Given the description of an element on the screen output the (x, y) to click on. 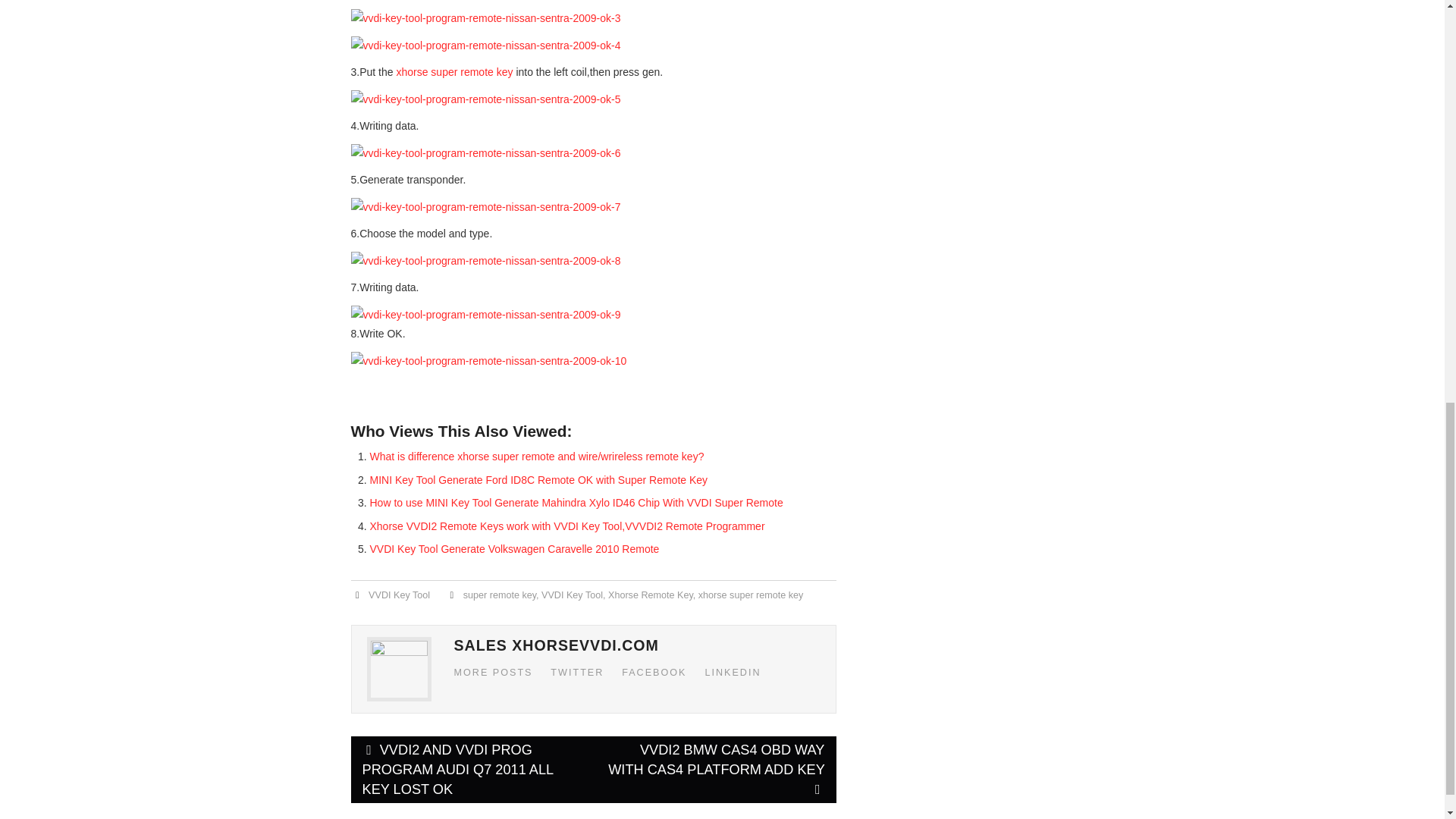
vvdi-key-tool-program-remote-nissan-sentra-2009-ok-8  (485, 261)
vvdi-key-tool-program-remote-nissan-sentra-2009-ok-3  (485, 18)
vvdi-key-tool-program-remote-nissan-sentra-2009-ok-4  (485, 45)
vvdi-key-tool-program-remote-nissan-sentra-2009-ok-7  (485, 207)
vvdi-key-tool-program-remote-nissan-sentra-2009-ok-5  (485, 99)
vvdi-key-tool-program-remote-nissan-sentra-2009-ok-9  (485, 314)
vvdi-key-tool-program-remote-nissan-sentra-2009-ok-6  (485, 153)
